Given the description of an element on the screen output the (x, y) to click on. 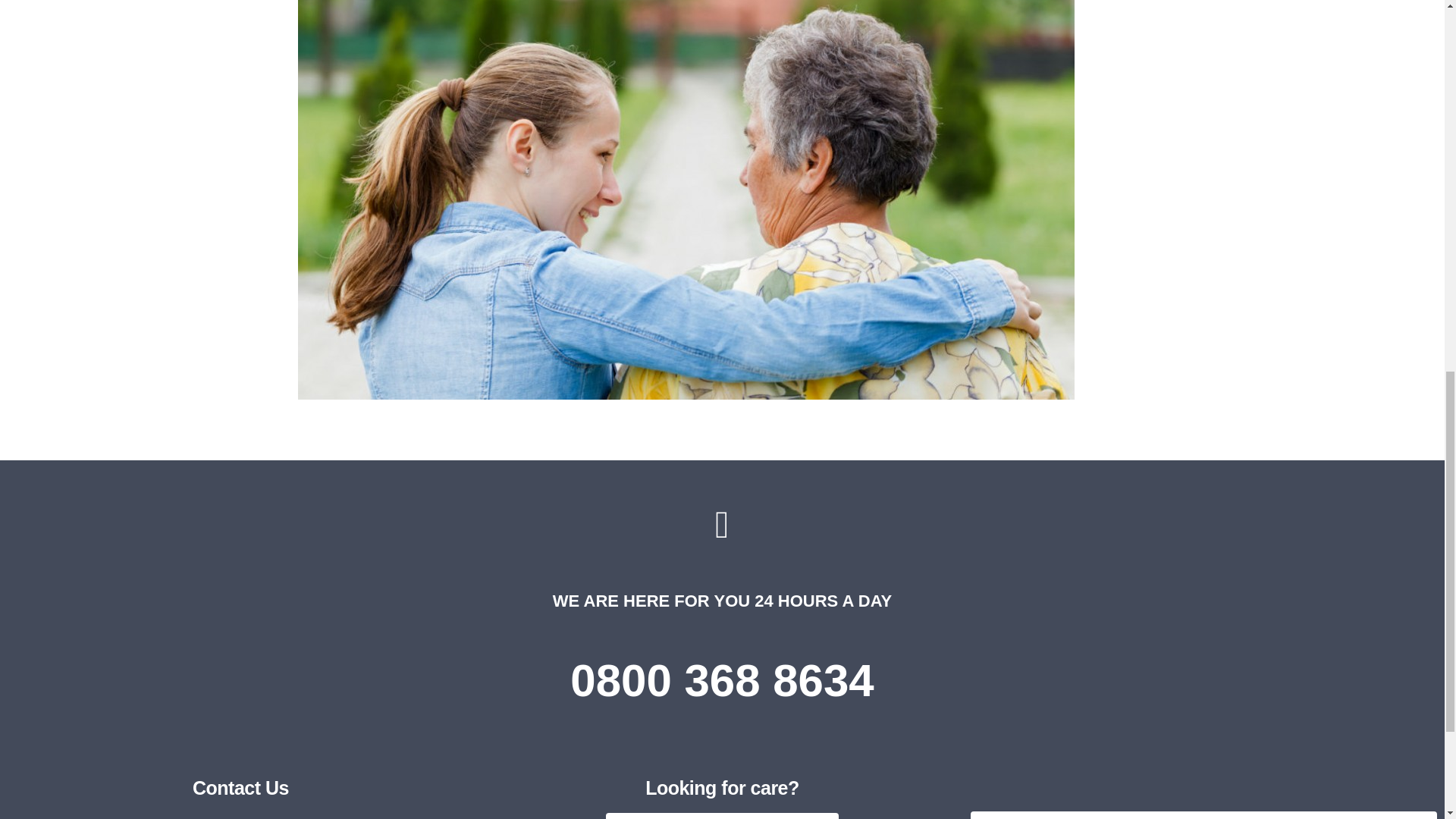
Apply for Vacancies (1204, 815)
Click here to visit our care services (721, 816)
